Given the description of an element on the screen output the (x, y) to click on. 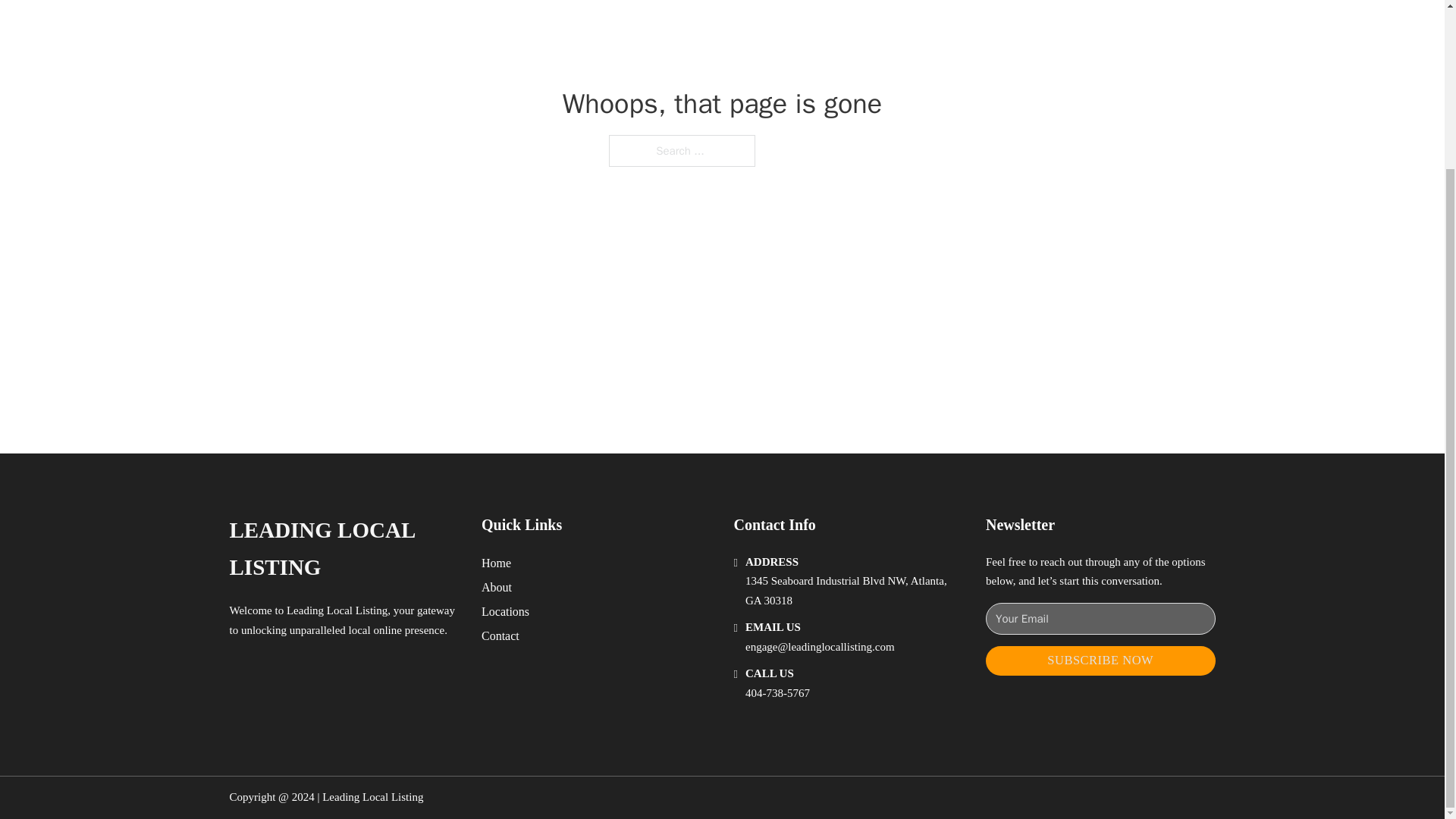
Locations (505, 611)
Home (496, 562)
Contact (500, 635)
About (496, 587)
404-738-5767 (777, 693)
SUBSCRIBE NOW (1100, 660)
LEADING LOCAL LISTING (343, 549)
